Given the description of an element on the screen output the (x, y) to click on. 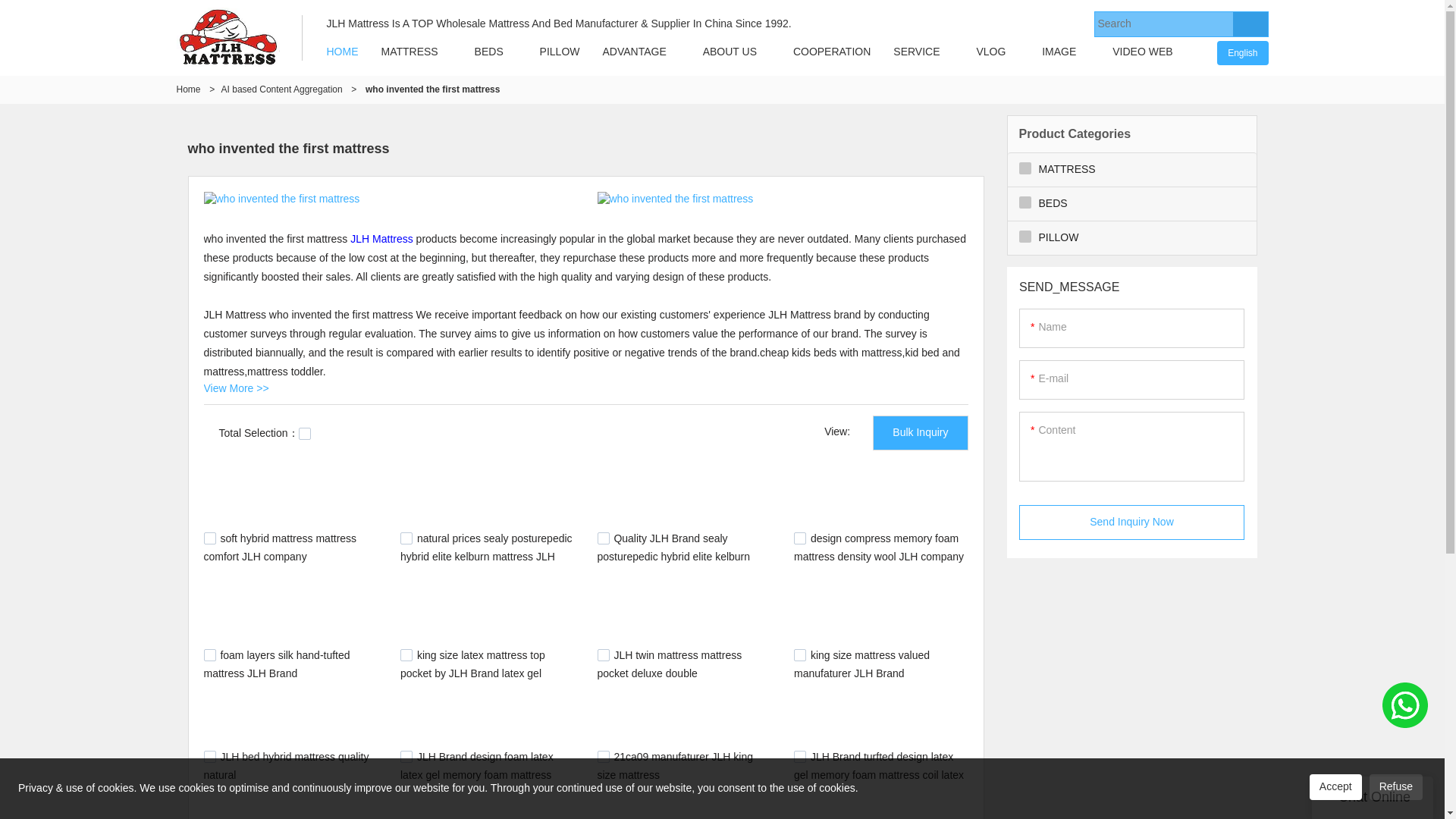
MATTRESS (409, 51)
1051 (406, 654)
1099 (406, 538)
1066 (209, 654)
HOME (342, 51)
COOPERATION (831, 51)
387 (603, 756)
JLH twin mattress mattress pocket deluxe double (669, 664)
ADVANTAGE (634, 51)
383 (799, 756)
BEDS (489, 51)
547 (799, 654)
VLOG (989, 51)
ABOUT US (729, 51)
